Given the description of an element on the screen output the (x, y) to click on. 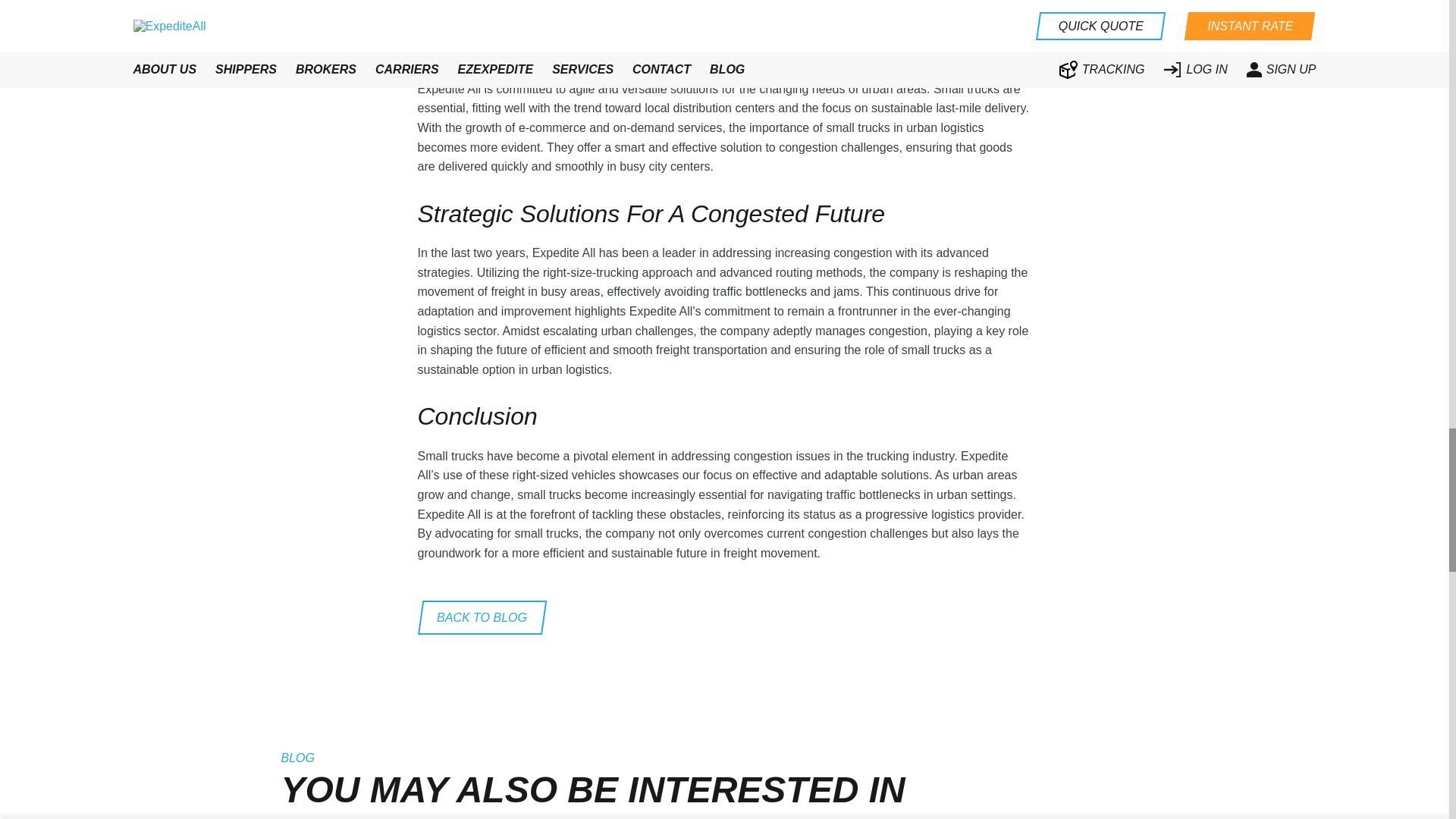
BACK TO BLOG (481, 617)
